Given the description of an element on the screen output the (x, y) to click on. 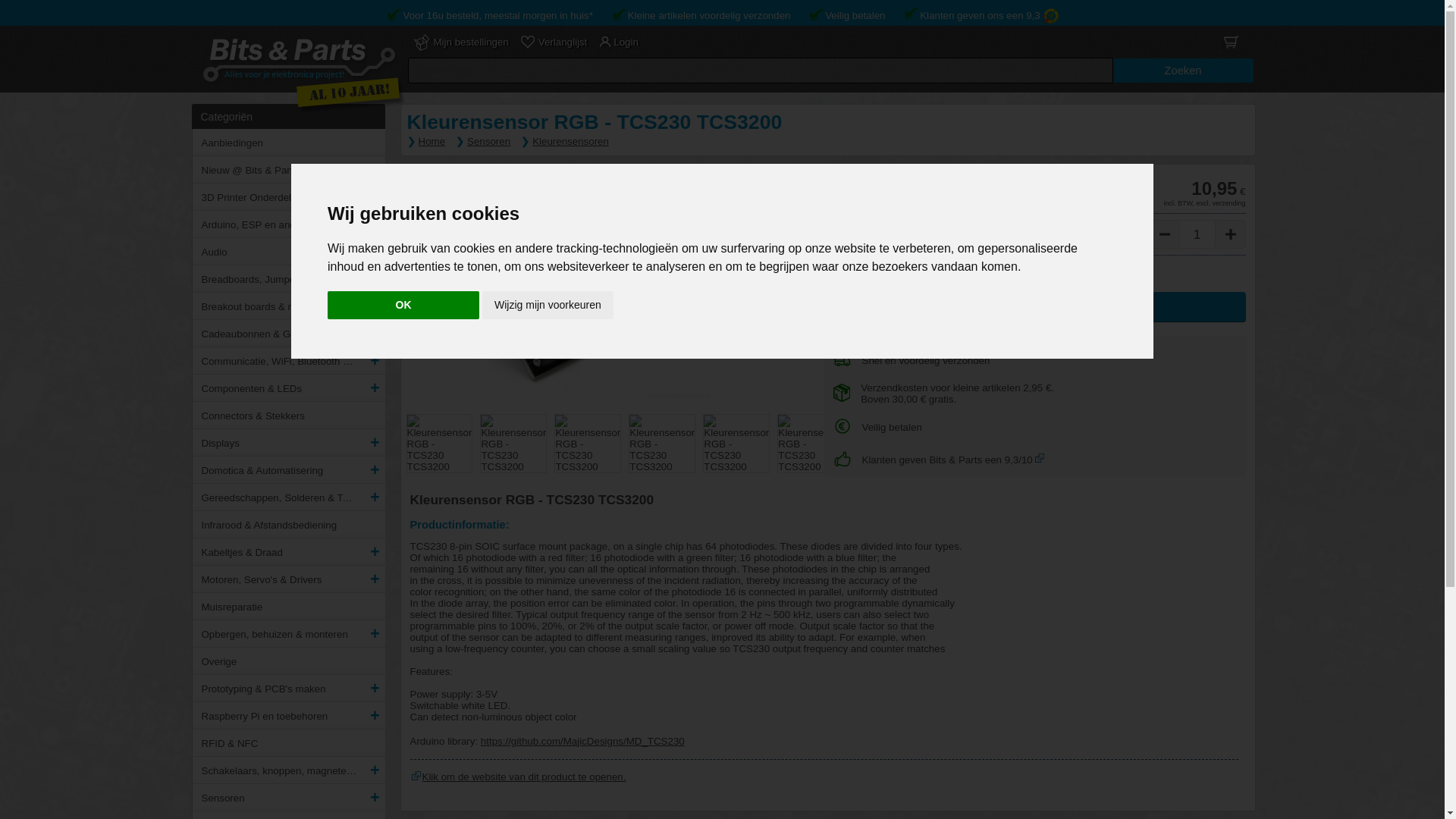
Arduino, ESP en andere microcontrollers (279, 222)
Controleer de bestelstatus van je bestellingen (460, 45)
Mijn bestellingen (460, 45)
Zoeken (1183, 70)
Verlanglijst (552, 45)
Klanten geven ons een 9,3 (989, 15)
Aanbiedingen (279, 140)
Login (618, 45)
Verlanglijst (552, 45)
Klik om de website van dit product te openen. (415, 775)
